Given the description of an element on the screen output the (x, y) to click on. 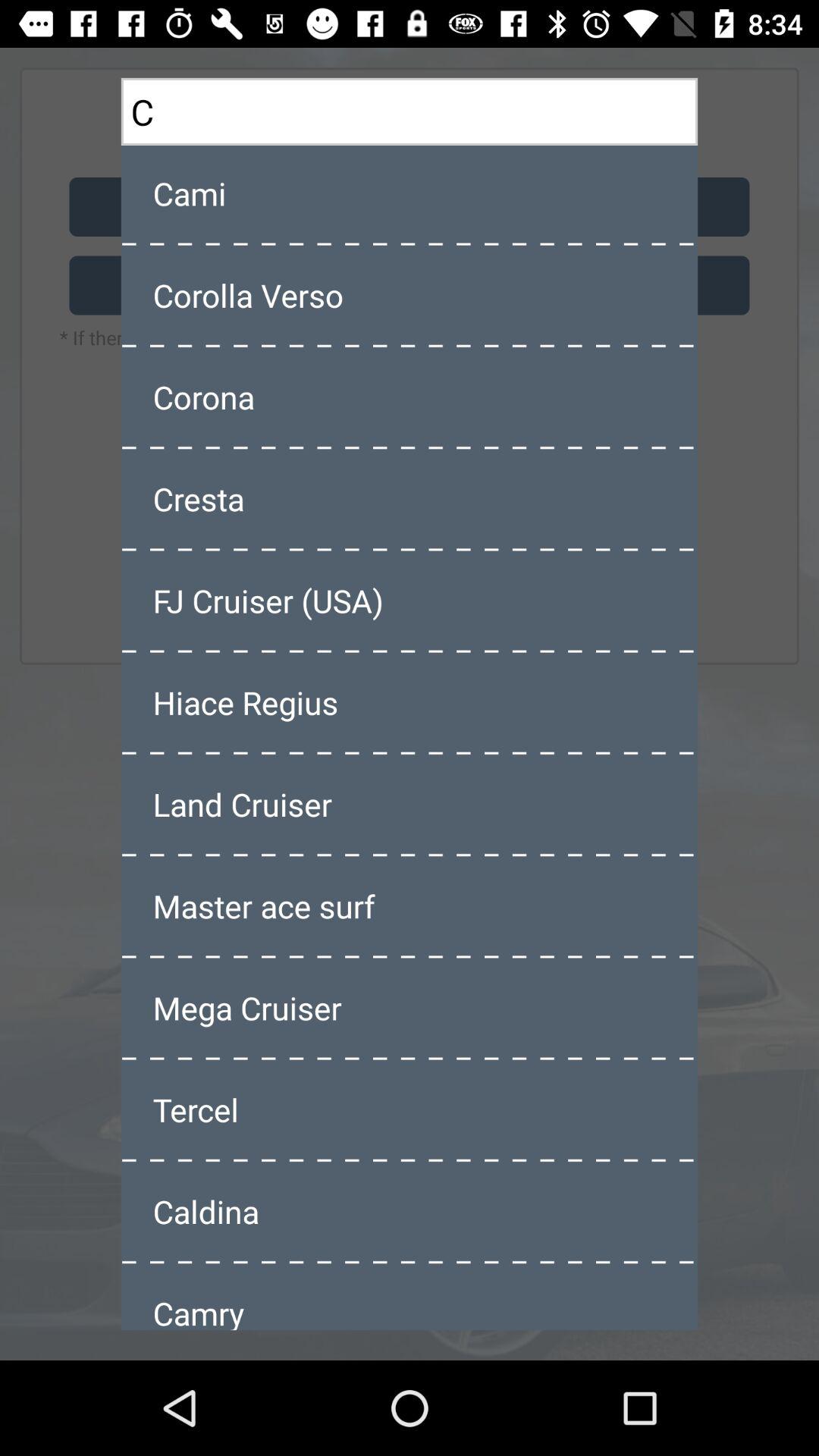
choose the icon above camry (409, 1211)
